Given the description of an element on the screen output the (x, y) to click on. 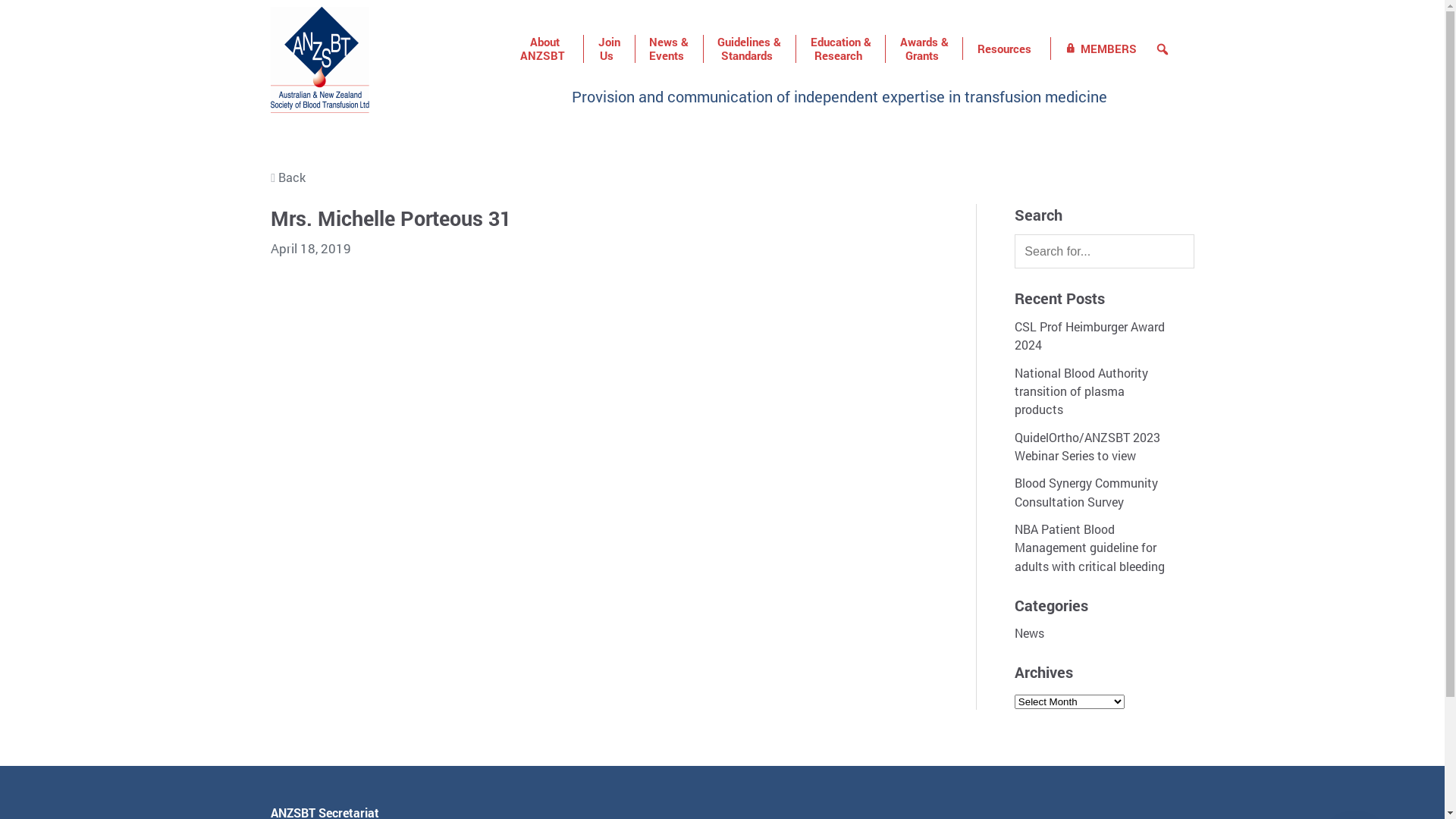
National Blood Authority transition of plasma products Element type: text (1081, 390)
Awards &
Grants Element type: text (923, 48)
News &
Events Element type: text (668, 48)
Join
Us Element type: text (608, 48)
News Element type: text (1029, 632)
Resources Element type: text (1006, 48)
CSL Prof Heimburger Award 2024 Element type: text (1089, 335)
Back Element type: text (721, 177)
Search Element type: text (11, 7)
MEMBERS Element type: text (1101, 48)
Guidelines &
Standards Element type: text (749, 48)
QuidelOrtho/ANZSBT 2023 Webinar Series to view Element type: text (1087, 446)
Education &
Research Element type: text (840, 48)
About
ANZSBT Element type: text (544, 48)
Blood Synergy Community Consultation Survey Element type: text (1085, 491)
